Given the description of an element on the screen output the (x, y) to click on. 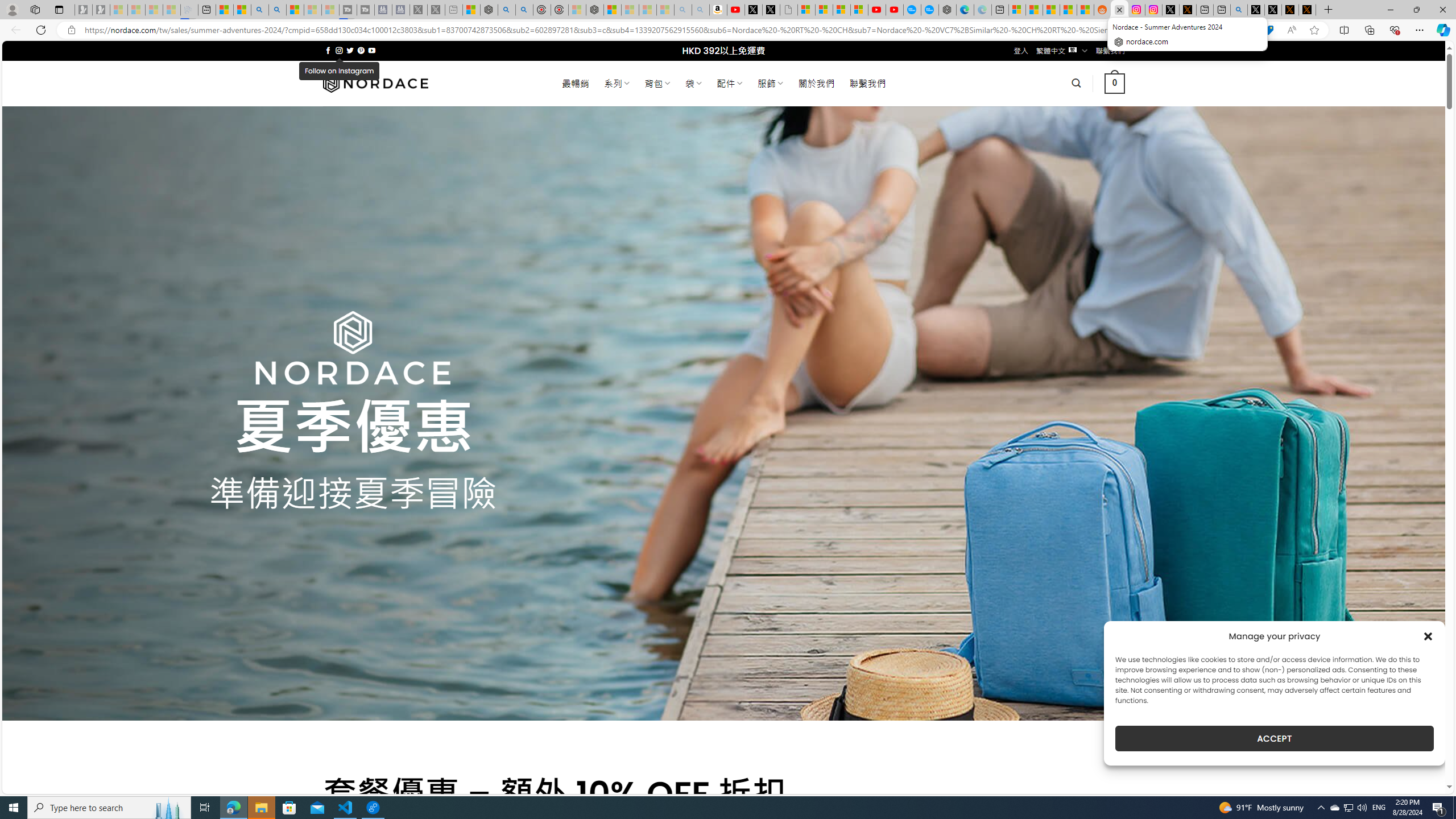
poe ++ standard - Search (524, 9)
Day 1: Arriving in Yemen (surreal to be here) - YouTube (735, 9)
poe - Search (506, 9)
Wildlife - MSN (470, 9)
X (770, 9)
